Given the description of an element on the screen output the (x, y) to click on. 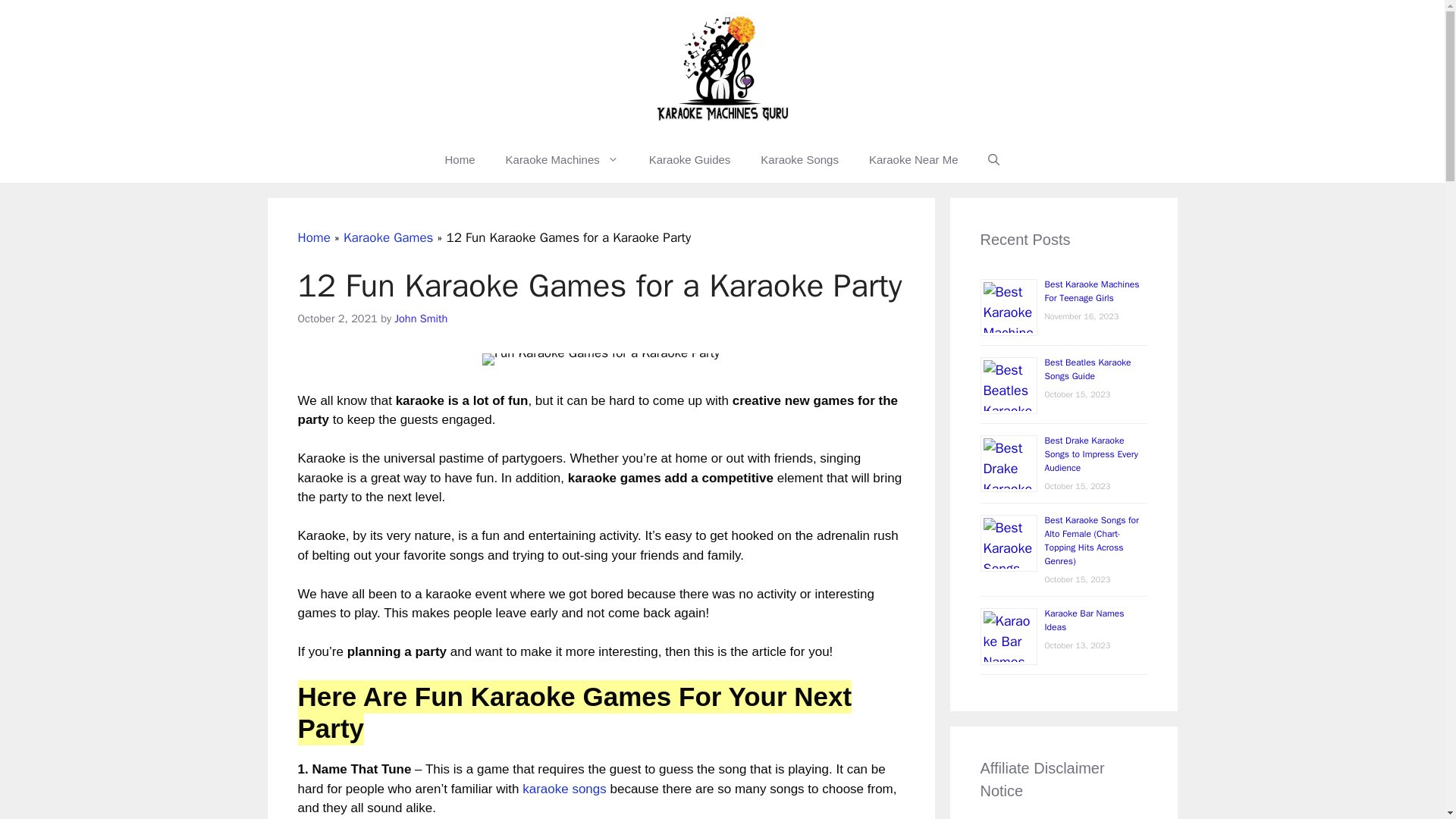
Karaoke Guides (689, 159)
Karaoke Bar Names Ideas (1084, 620)
View all posts by John Smith (420, 318)
Home (459, 159)
karaoke songs (564, 789)
Best Drake Karaoke Songs to Impress Every Audience (1091, 454)
Home (313, 237)
Karaoke Machines (561, 159)
Best Karaoke Machines For Teenage Girls (1092, 290)
Best Beatles Karaoke Songs Guide (1088, 369)
John Smith (420, 318)
Karaoke Songs (799, 159)
Karaoke Games (388, 237)
Karaoke Near Me (913, 159)
